Given the description of an element on the screen output the (x, y) to click on. 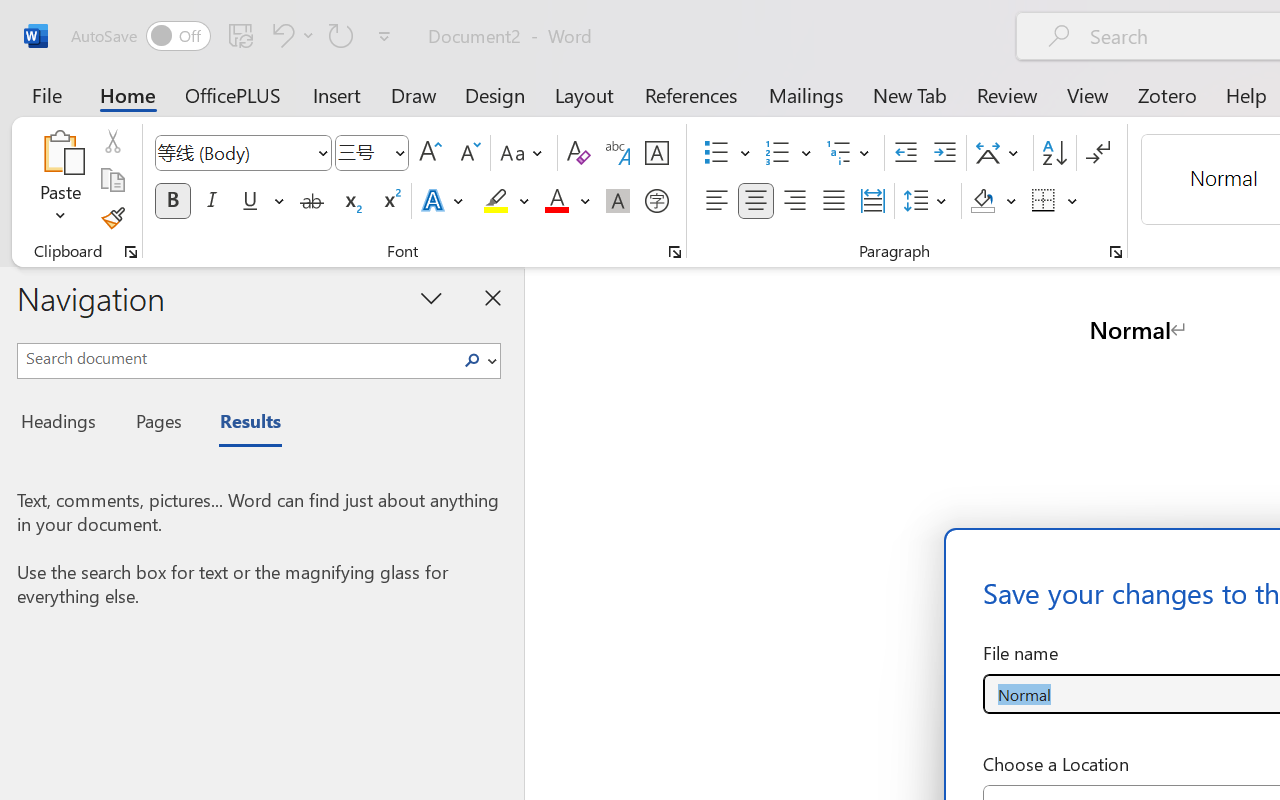
Open (399, 152)
OfficePLUS (233, 94)
Text Highlight Color Yellow (495, 201)
Format Painter (112, 218)
Office Clipboard... (131, 252)
Grow Font (430, 153)
Distributed (872, 201)
Align Right (794, 201)
Clear Formatting (578, 153)
Paragraph... (1115, 252)
Insert (337, 94)
Character Border (656, 153)
Center (756, 201)
Undo Style (290, 35)
